Given the description of an element on the screen output the (x, y) to click on. 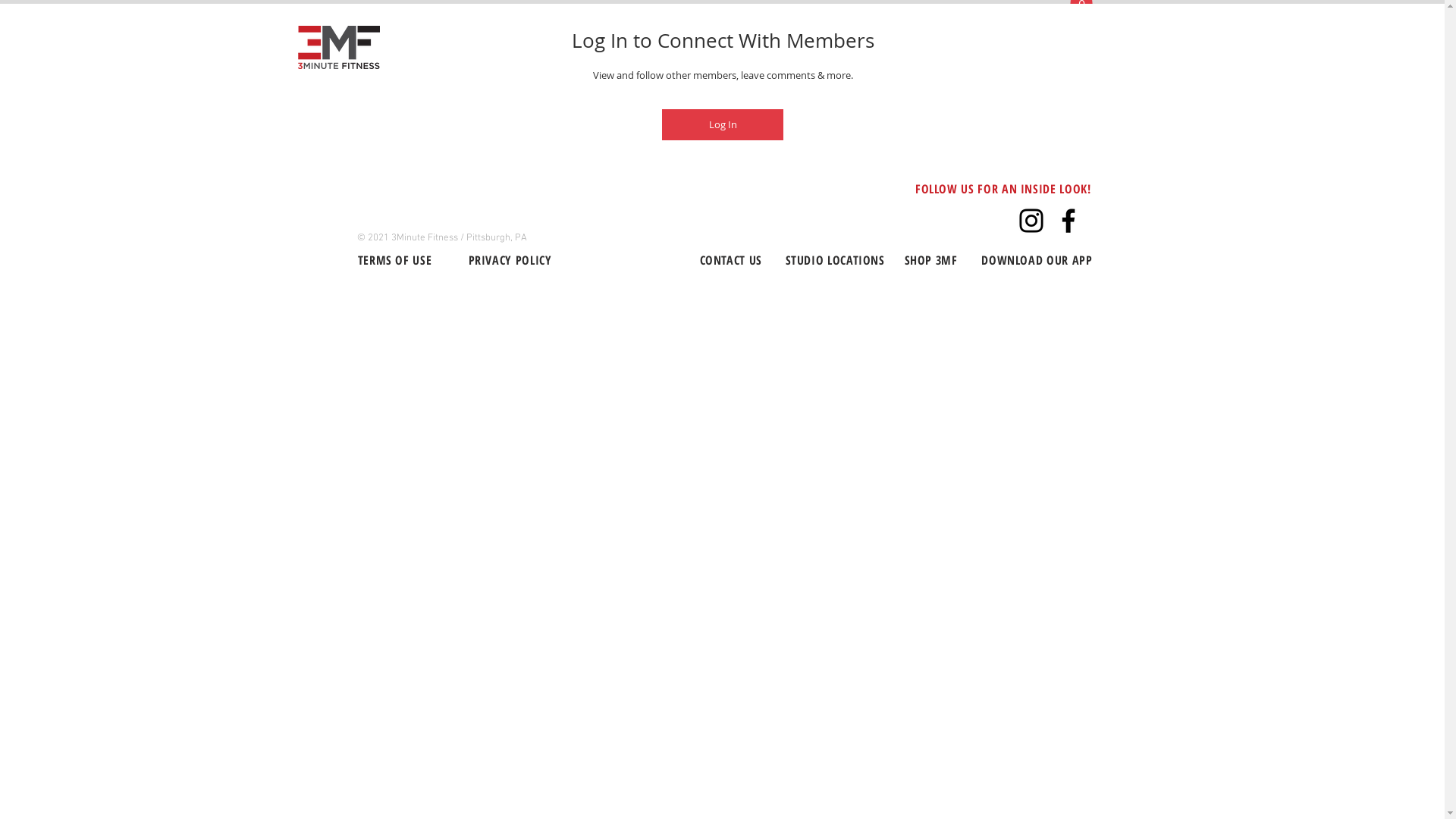
TERMS OF USE Element type: text (394, 259)
SHOP 3MF Element type: text (930, 261)
STUDIO LOCATIONS Element type: text (834, 261)
CONTACT US Element type: text (730, 261)
PRIVACY POLICY Element type: text (510, 259)
Members Element type: hover (721, 85)
DOWNLOAD OUR APP Element type: text (1036, 261)
